Given the description of an element on the screen output the (x, y) to click on. 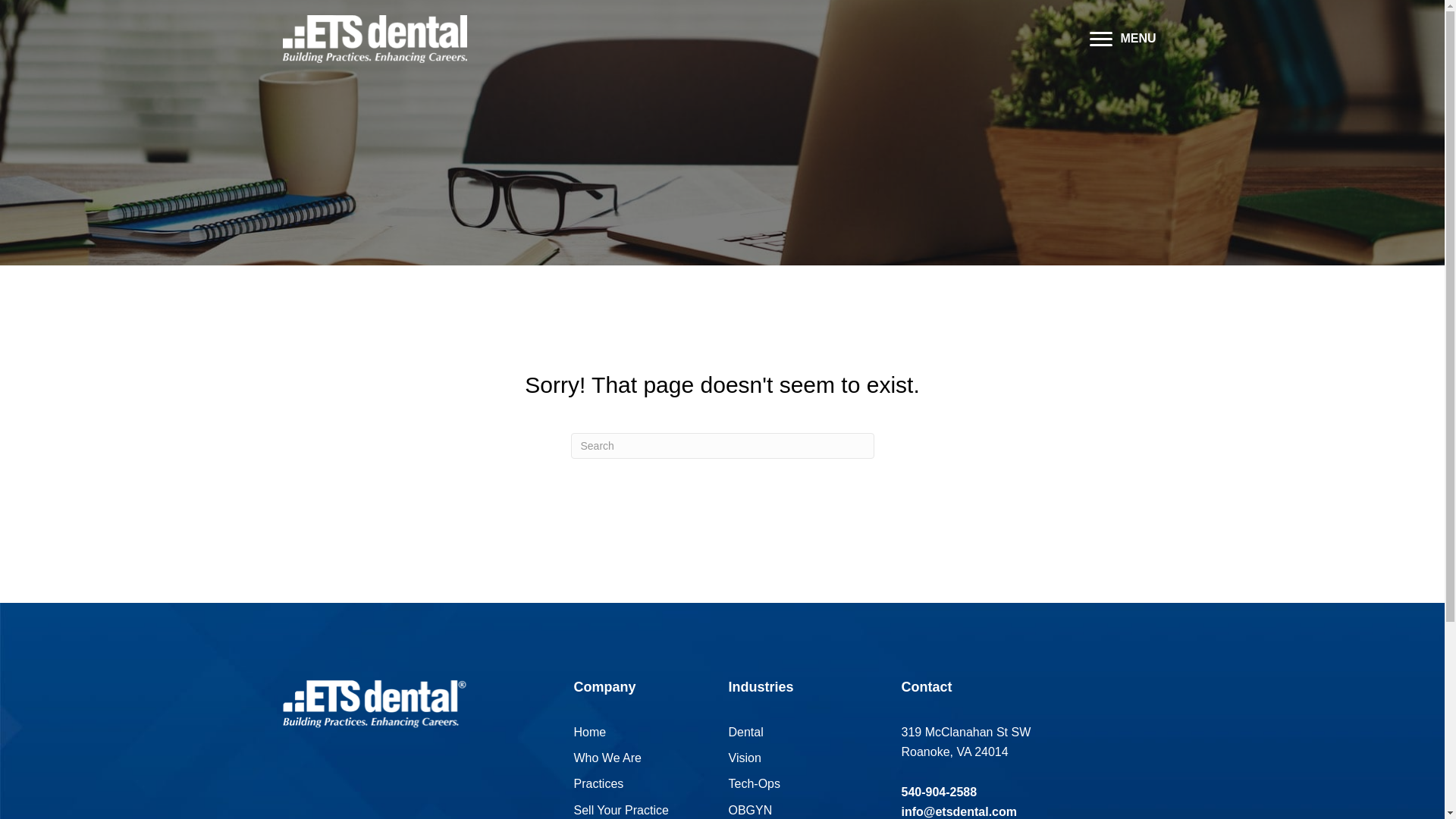
Dental (745, 731)
Home (589, 731)
Sell Your Practice (620, 809)
OBGYN (749, 809)
Practices (598, 783)
Tech-Ops (753, 783)
MENU (1122, 39)
ETS Dental (373, 39)
ETS Dental-Full-Color (373, 703)
Vision (744, 757)
Type and press Enter to search. (721, 445)
Who We Are (607, 757)
